Given the description of an element on the screen output the (x, y) to click on. 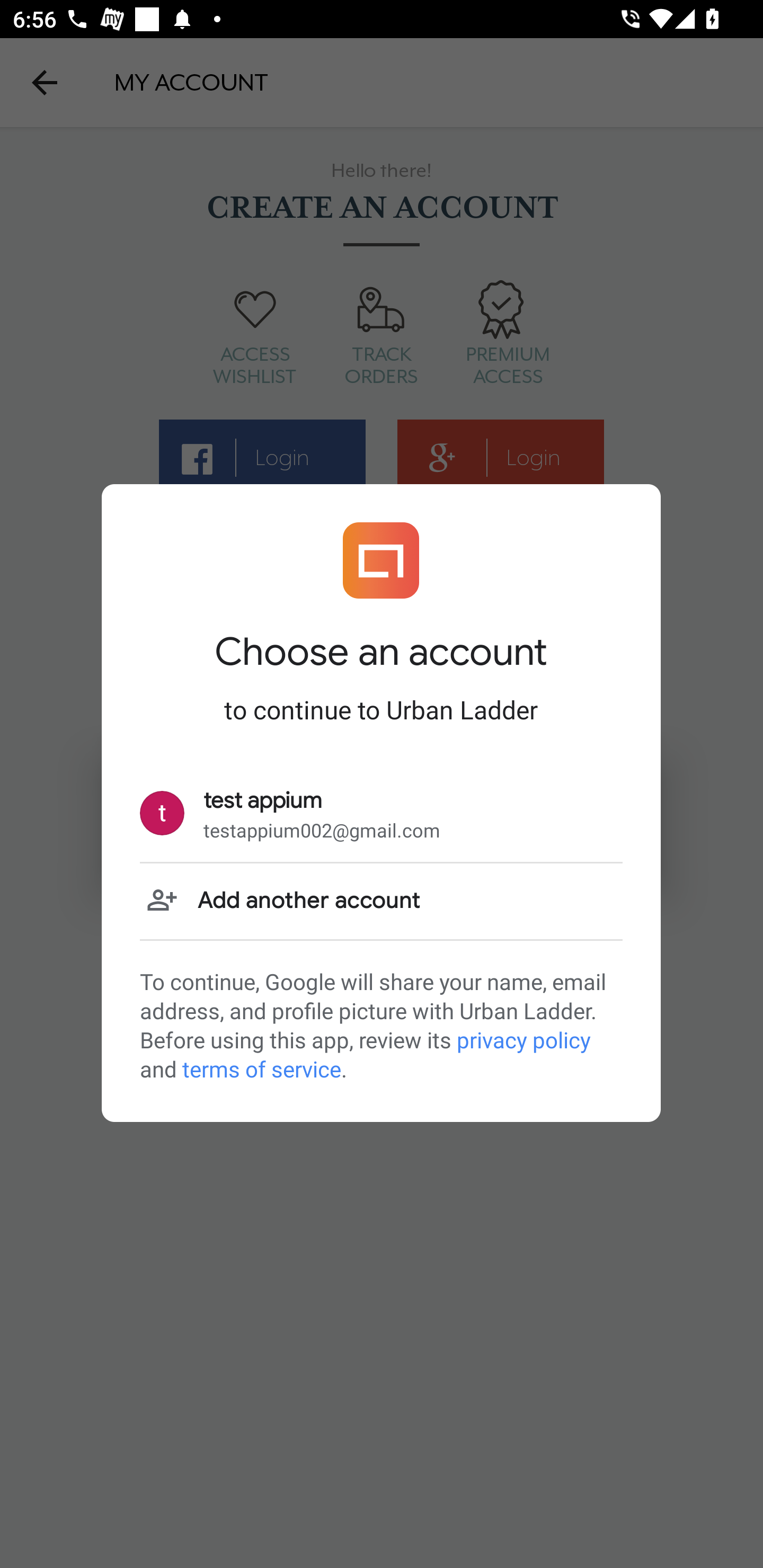
test appium testappium002@gmail.com (380, 813)
Add another account (380, 900)
